Given the description of an element on the screen output the (x, y) to click on. 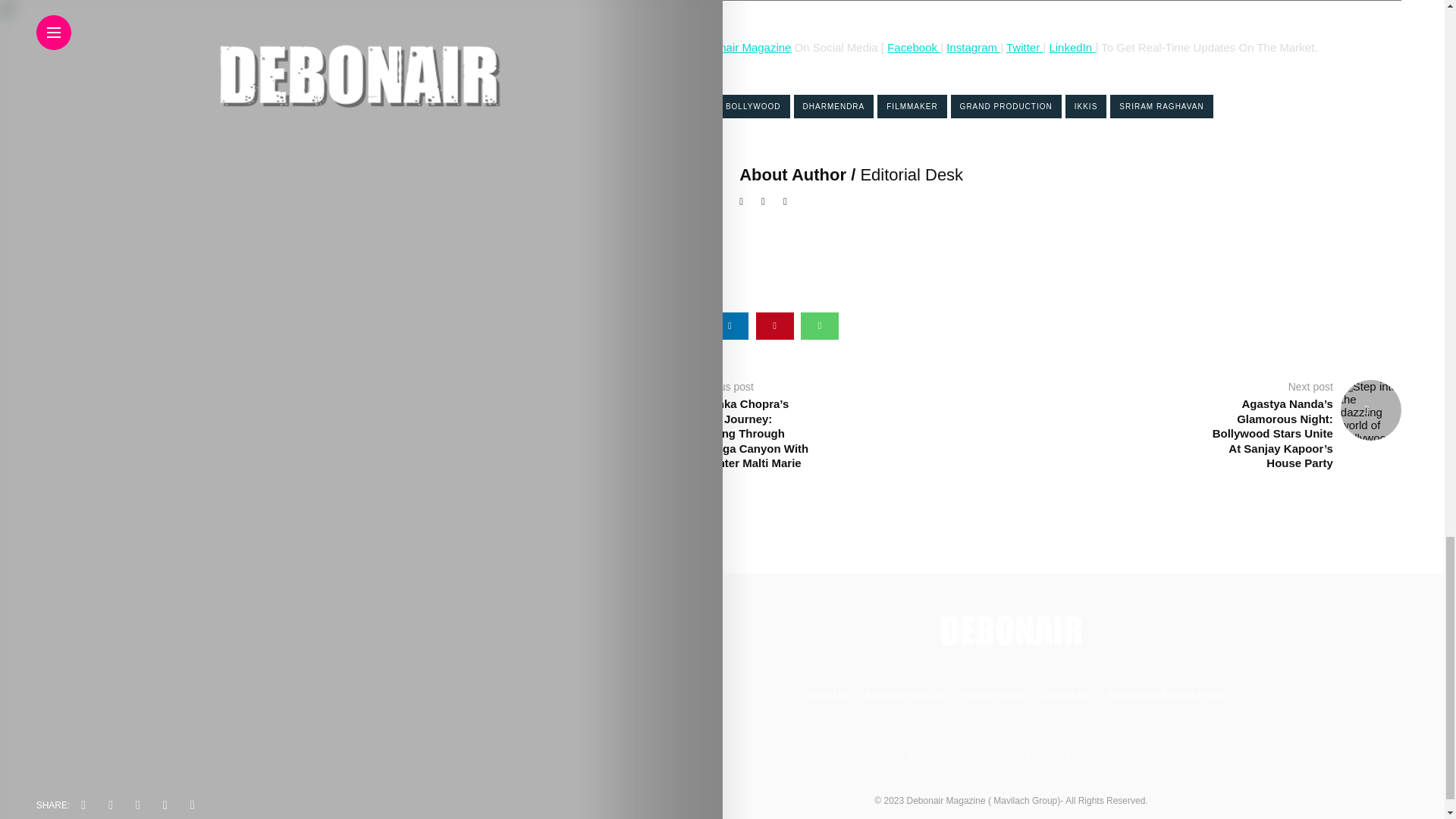
Facebook  (913, 47)
Instagram  (973, 47)
LinkedIn (1070, 47)
facebook (640, 325)
AGASTYA NANDA (667, 106)
Posts by Editorial Desk (911, 174)
Twitter (1022, 47)
Debonair Magazine (741, 47)
BOLLYWOOD (753, 106)
